Given the description of an element on the screen output the (x, y) to click on. 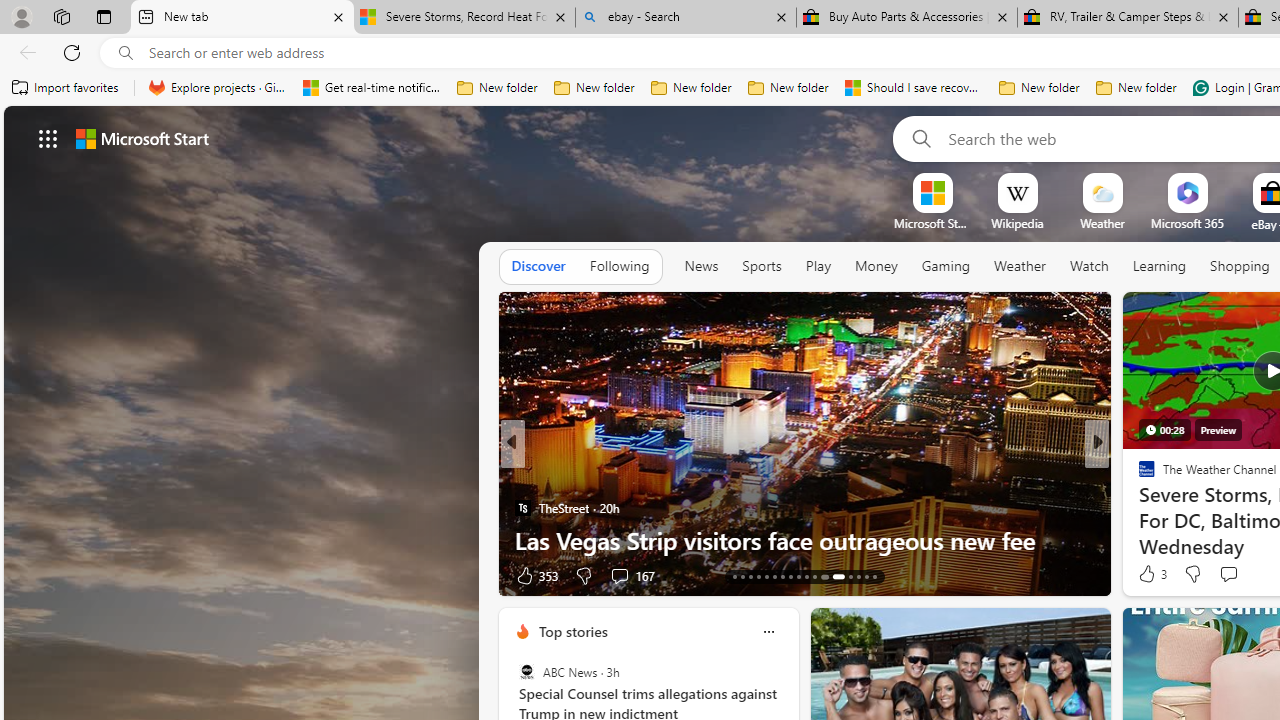
Ad Choice (479, 575)
116 Like (1151, 574)
News (701, 267)
Money (875, 265)
AutomationID: tab-14 (742, 576)
RV, Trailer & Camper Steps & Ladders for sale | eBay (1127, 17)
Top stories (572, 631)
Import favorites (65, 88)
Start the conversation (1228, 573)
MUO (1138, 507)
Search icon (125, 53)
Weather (1019, 267)
Money (876, 267)
